Given the description of an element on the screen output the (x, y) to click on. 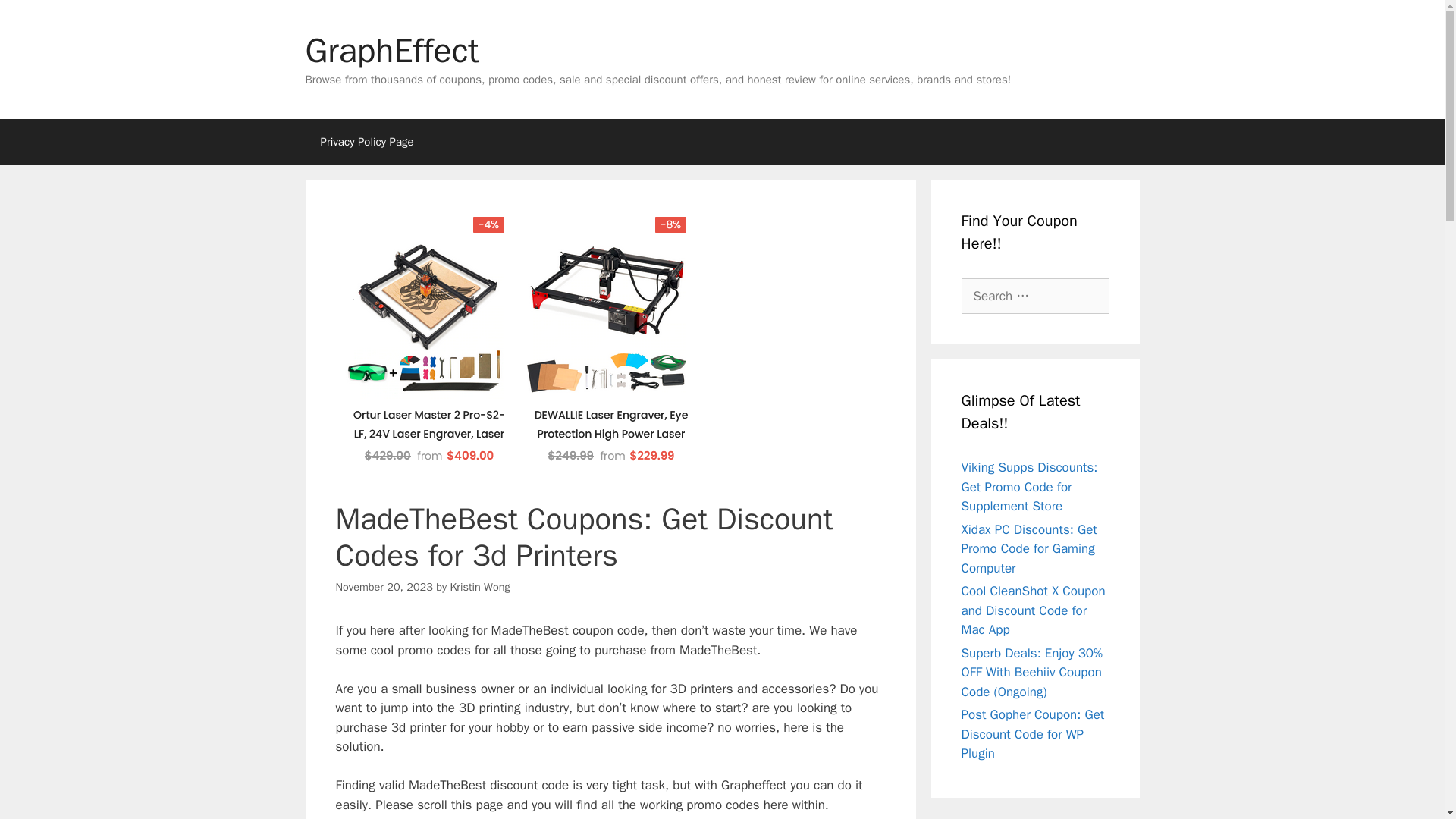
Viking Supps Discounts: Get Promo Code for Supplement Store (1028, 486)
Search for: (1034, 295)
Xidax PC Discounts: Get Promo Code for Gaming Computer (1028, 548)
November 20, 2023 (383, 586)
Kristin Wong (479, 586)
Privacy Policy Page (366, 140)
View all posts by Kristin Wong (479, 586)
GraphEffect (391, 50)
Search (35, 18)
Post Gopher Coupon: Get Discount Code for WP Plugin (1032, 733)
